Given the description of an element on the screen output the (x, y) to click on. 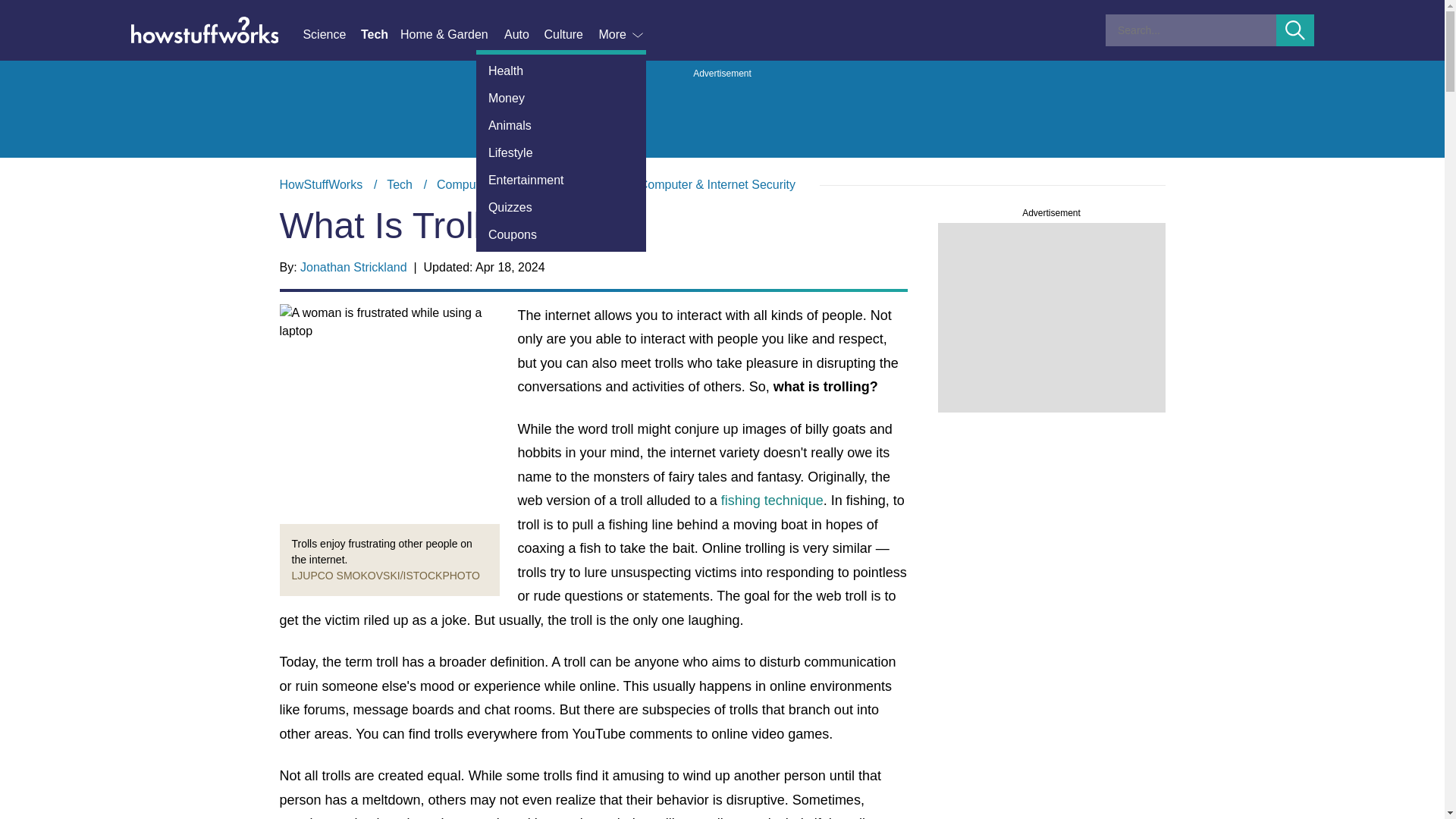
Auto (523, 34)
Health (561, 71)
Computer Security (563, 184)
Quizzes (561, 207)
Lifestyle (561, 153)
HowStuffWorks (320, 184)
Submit Search (1295, 29)
Science (330, 34)
Tech (399, 184)
Computer (462, 184)
Tech (380, 34)
Entertainment (561, 180)
Money (561, 98)
Coupons (561, 234)
More (621, 34)
